Given the description of an element on the screen output the (x, y) to click on. 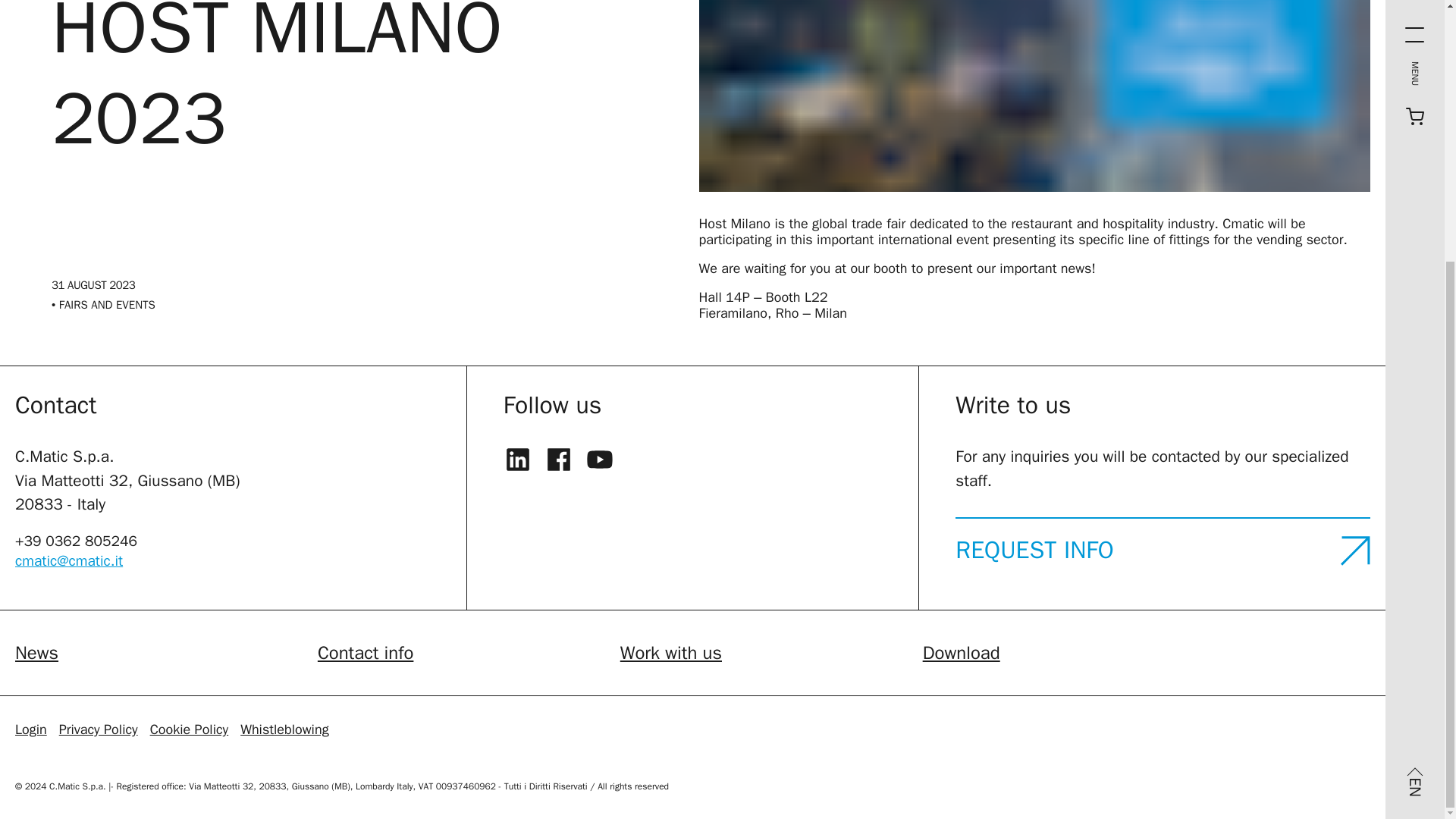
Cookie Policy (188, 729)
Privacy Policy (98, 729)
